Given the description of an element on the screen output the (x, y) to click on. 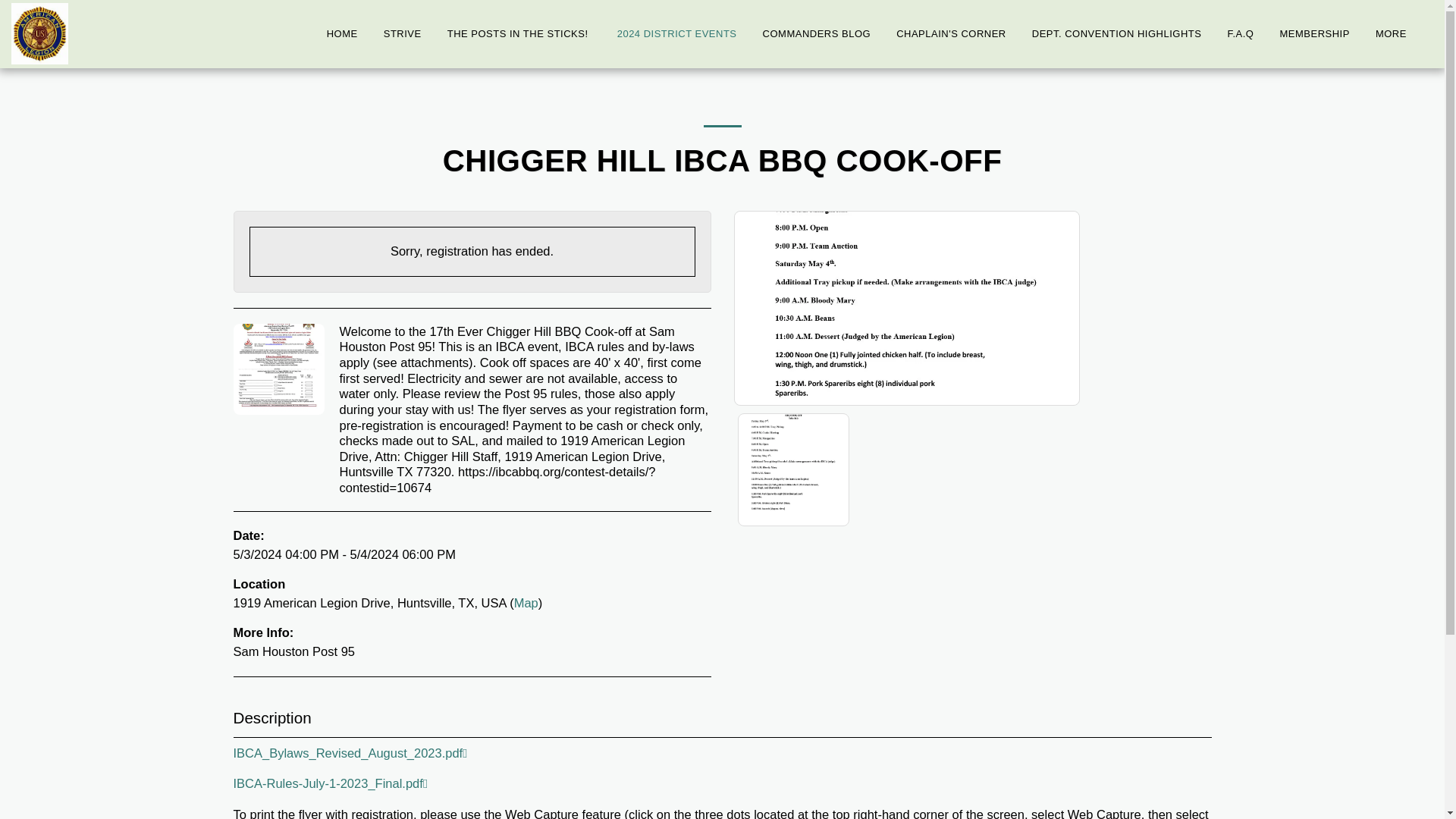
COMMANDERS BLOG (816, 34)
HOME (342, 34)
Map (525, 602)
2024 DISTRICT EVENTS (676, 34)
CHAPLAIN'S CORNER (951, 34)
STRIVE (402, 34)
MORE   (1397, 34)
F.A.Q (1240, 34)
DEPT. CONVENTION HIGHLIGHTS (1116, 34)
THE POSTS IN THE STICKS!  (518, 34)
